Given the description of an element on the screen output the (x, y) to click on. 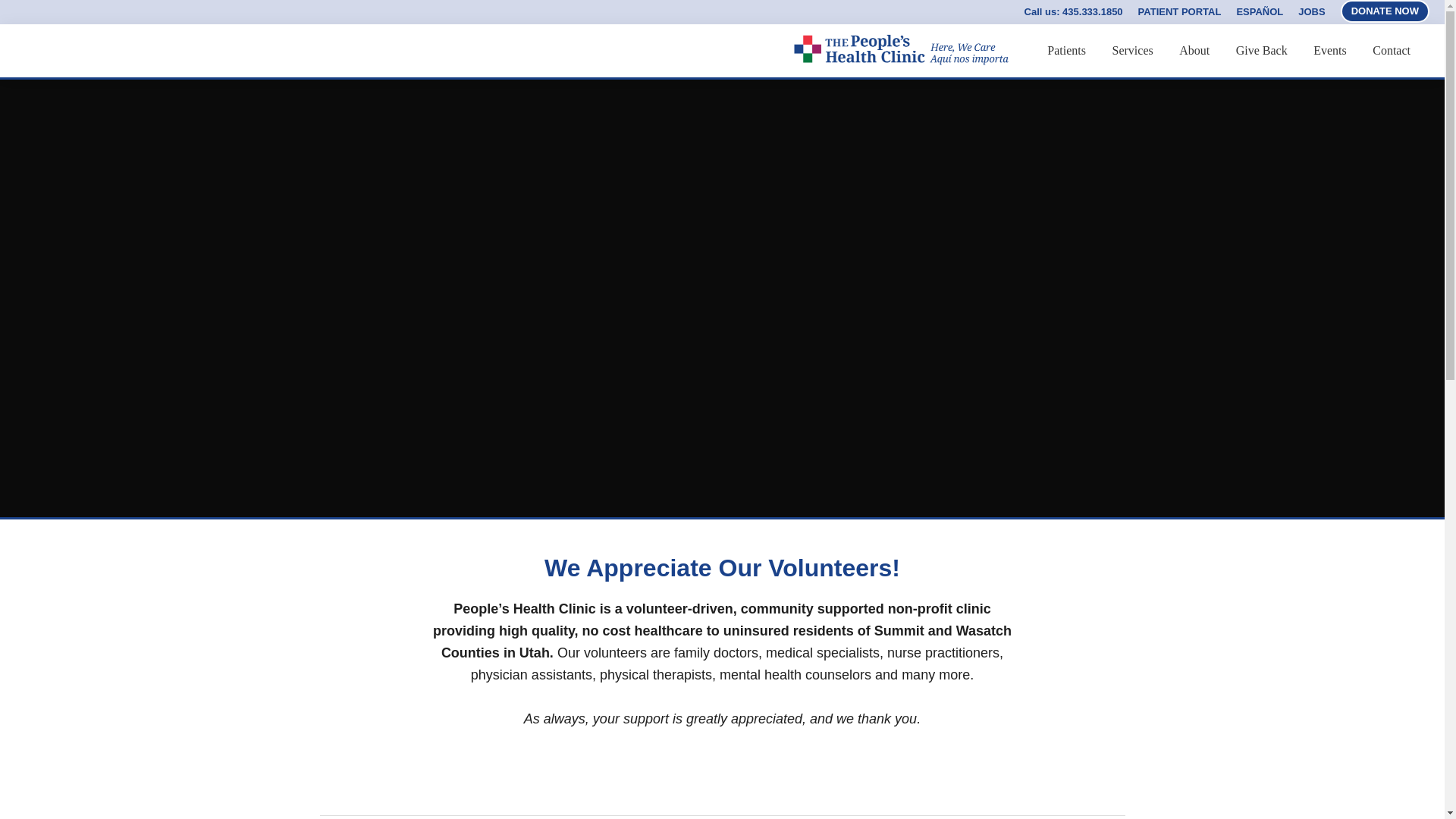
Patients (1066, 51)
Call us: 435.333.1850 (1073, 11)
About (1194, 51)
DONATE NOW (1384, 10)
Events (1329, 51)
Contact (1391, 51)
JOBS (1311, 11)
Give Back (1261, 51)
PATIENT PORTAL (1179, 11)
Services (1132, 51)
